Given the description of an element on the screen output the (x, y) to click on. 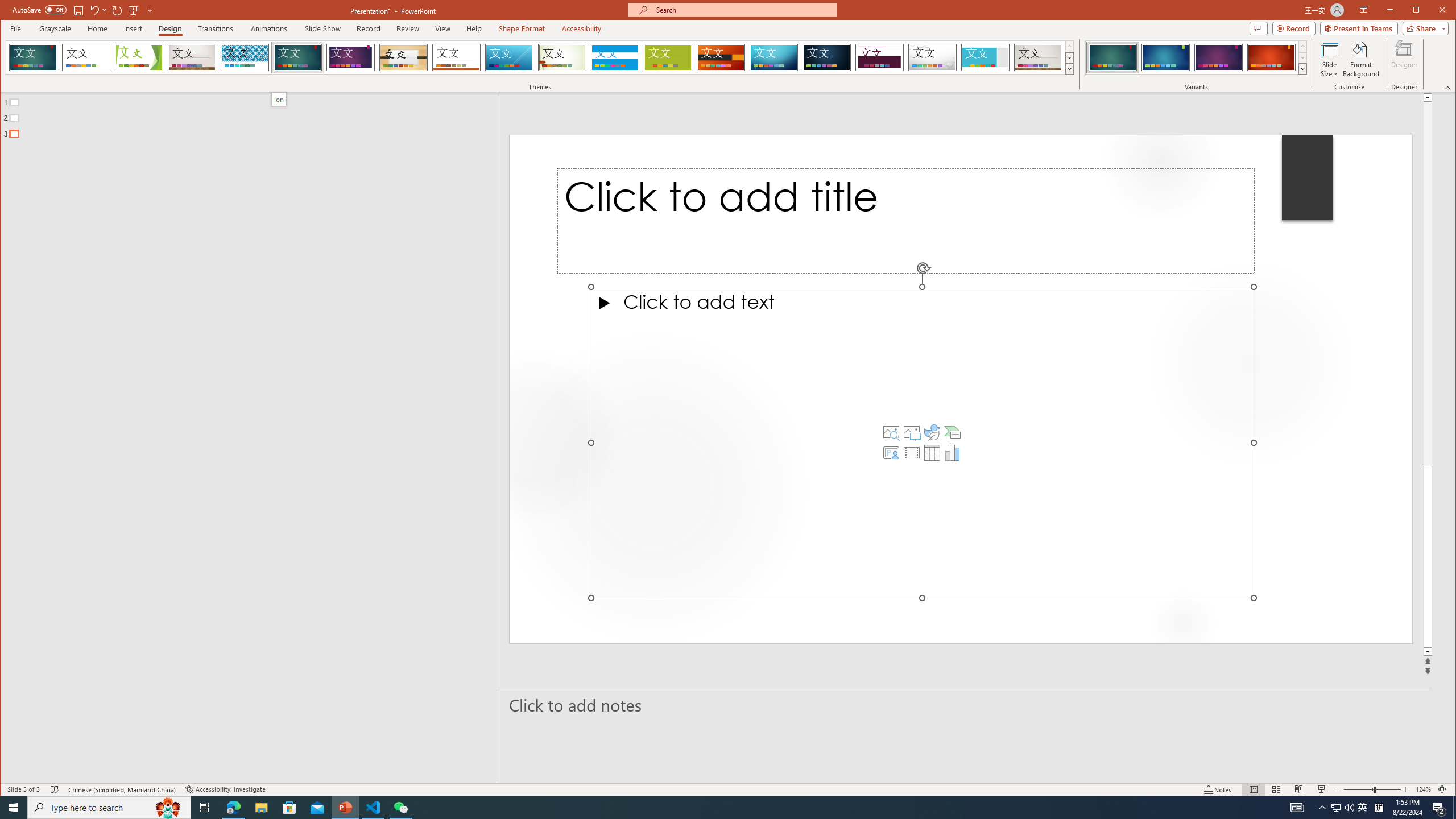
Stock Images (890, 432)
Content Placeholder (922, 442)
Wisp (561, 57)
Insert a SmartArt Graphic (952, 432)
Insert Cameo (890, 452)
Action Center, 2 new notifications (1439, 807)
